Given the description of an element on the screen output the (x, y) to click on. 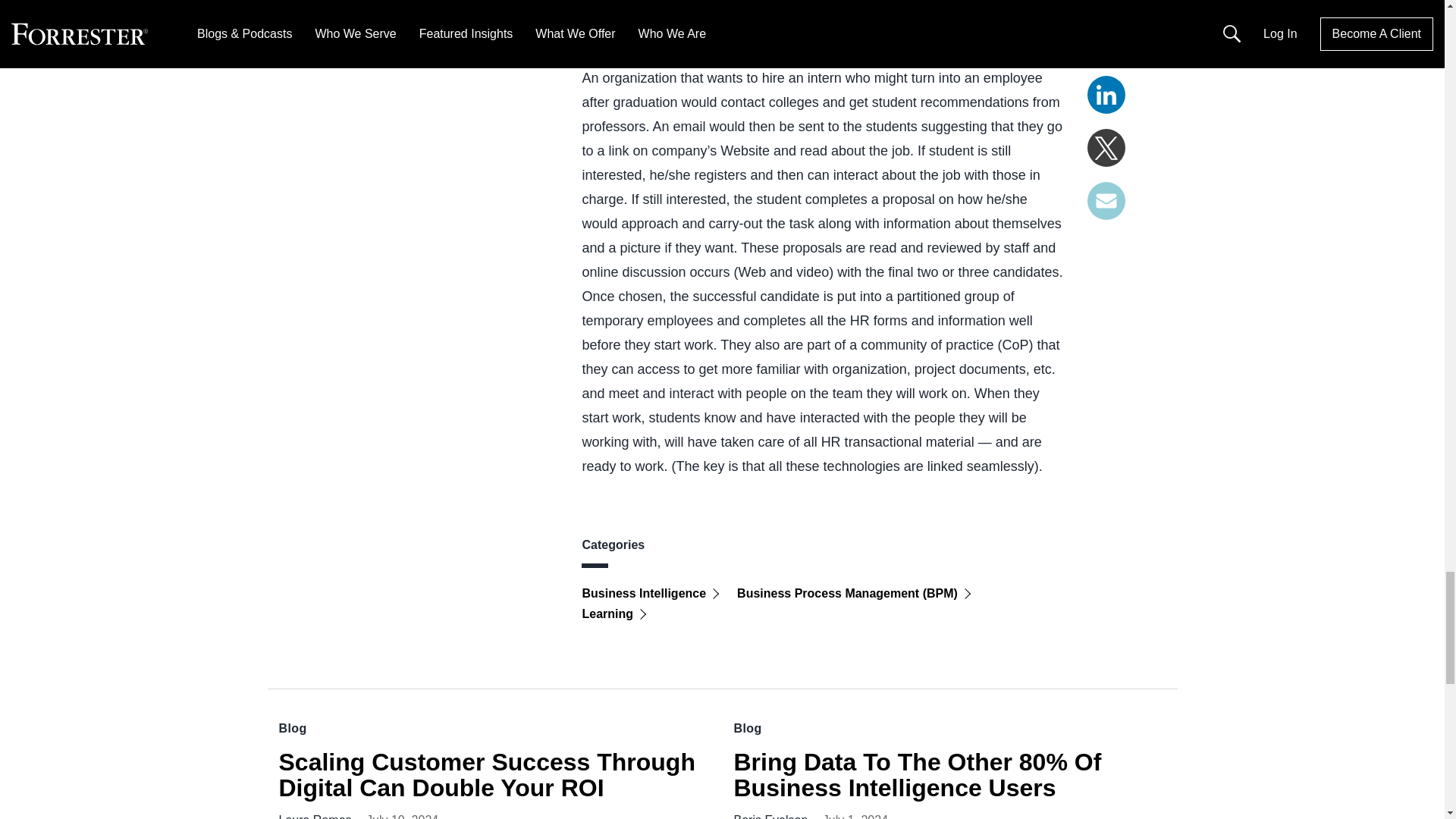
Boris Evelson (770, 816)
Laura Ramos (315, 816)
